Given the description of an element on the screen output the (x, y) to click on. 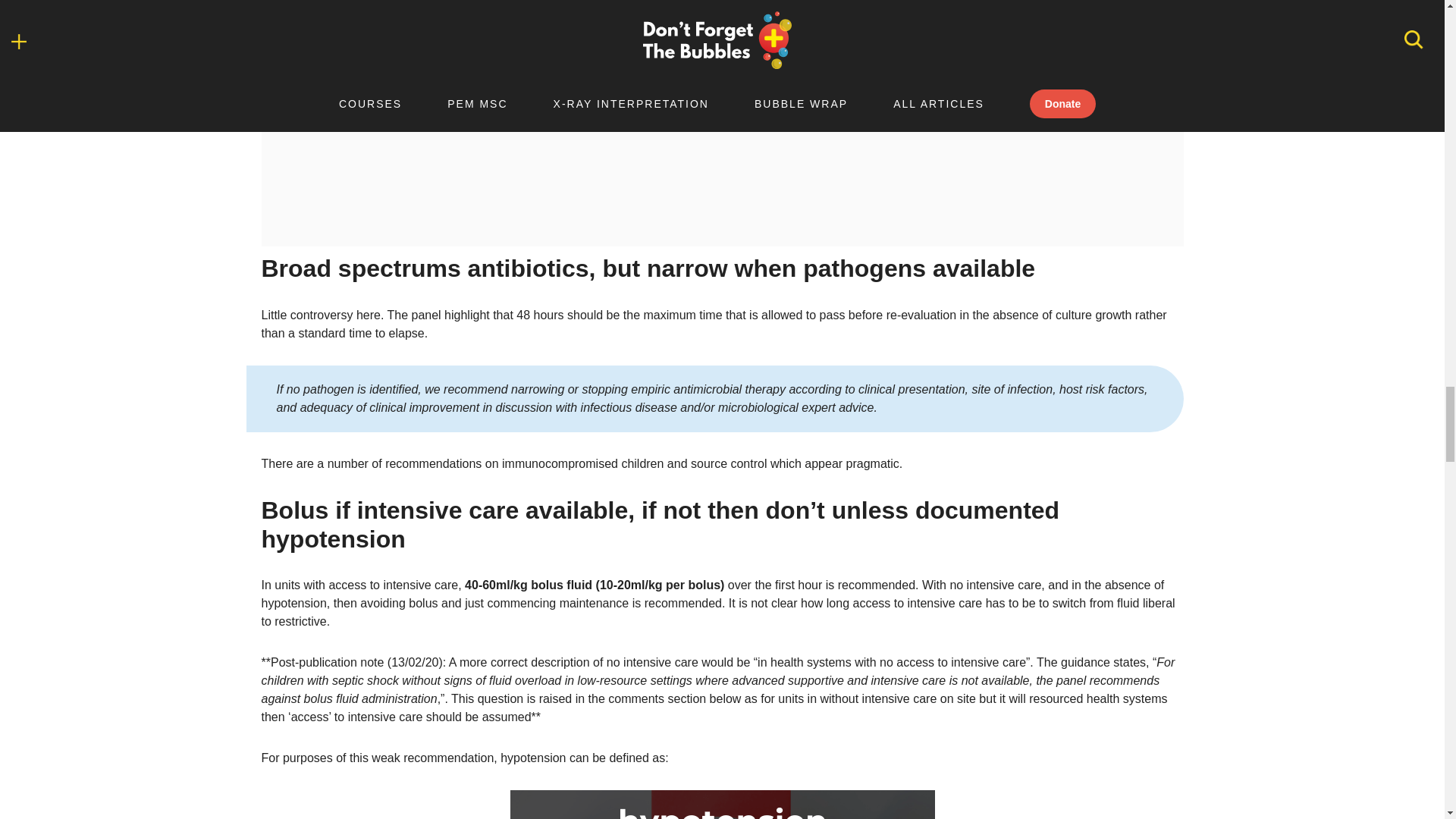
hypotension (721, 804)
